Given the description of an element on the screen output the (x, y) to click on. 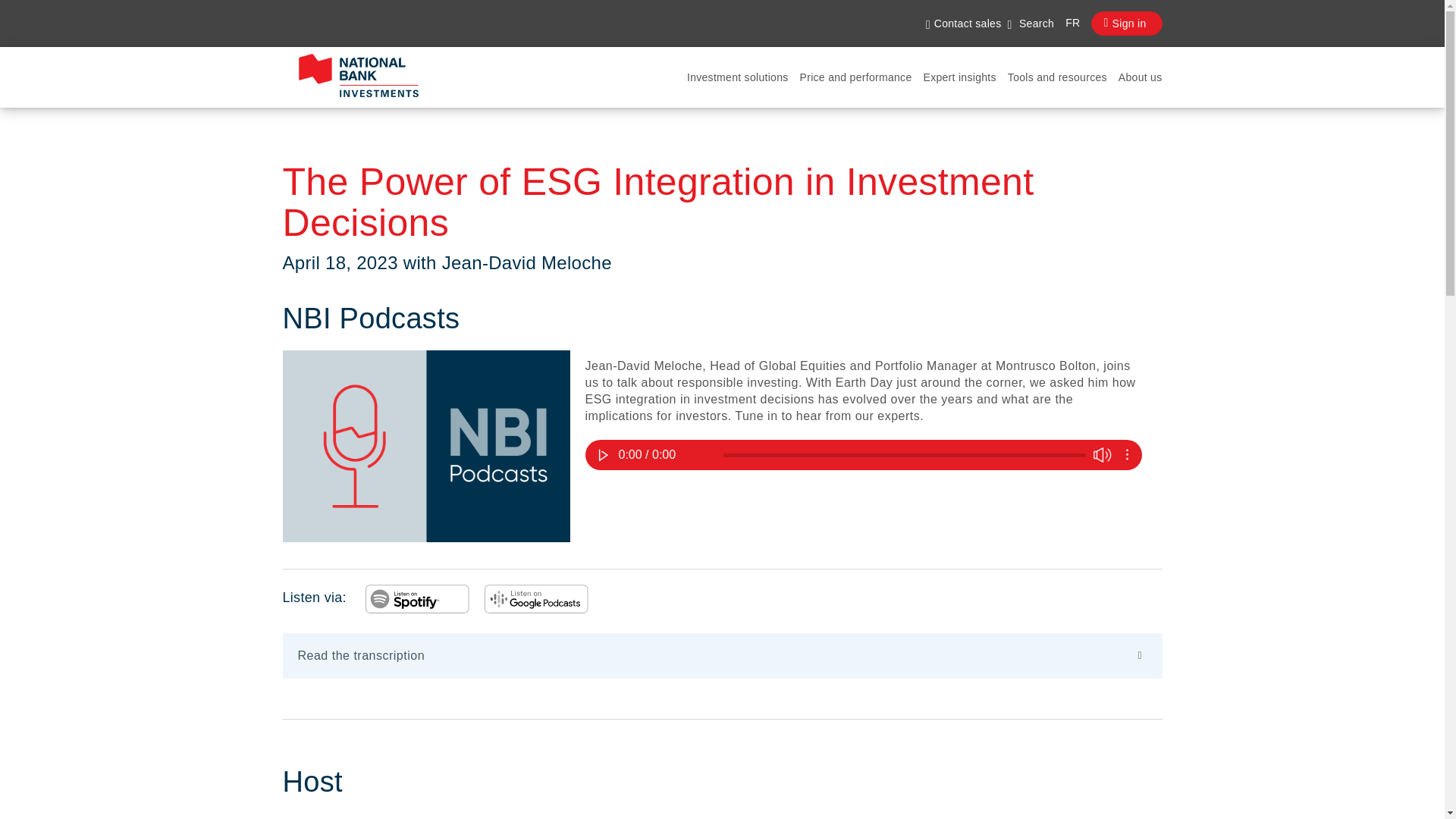
Image of podcast episode (425, 446)
Price and performance (855, 77)
Search (1030, 23)
Tools and resources (1056, 77)
Sign in (1125, 23)
Contact sales (963, 23)
Expert insights (959, 77)
FR (1067, 23)
Investment solutions (738, 77)
